Given the description of an element on the screen output the (x, y) to click on. 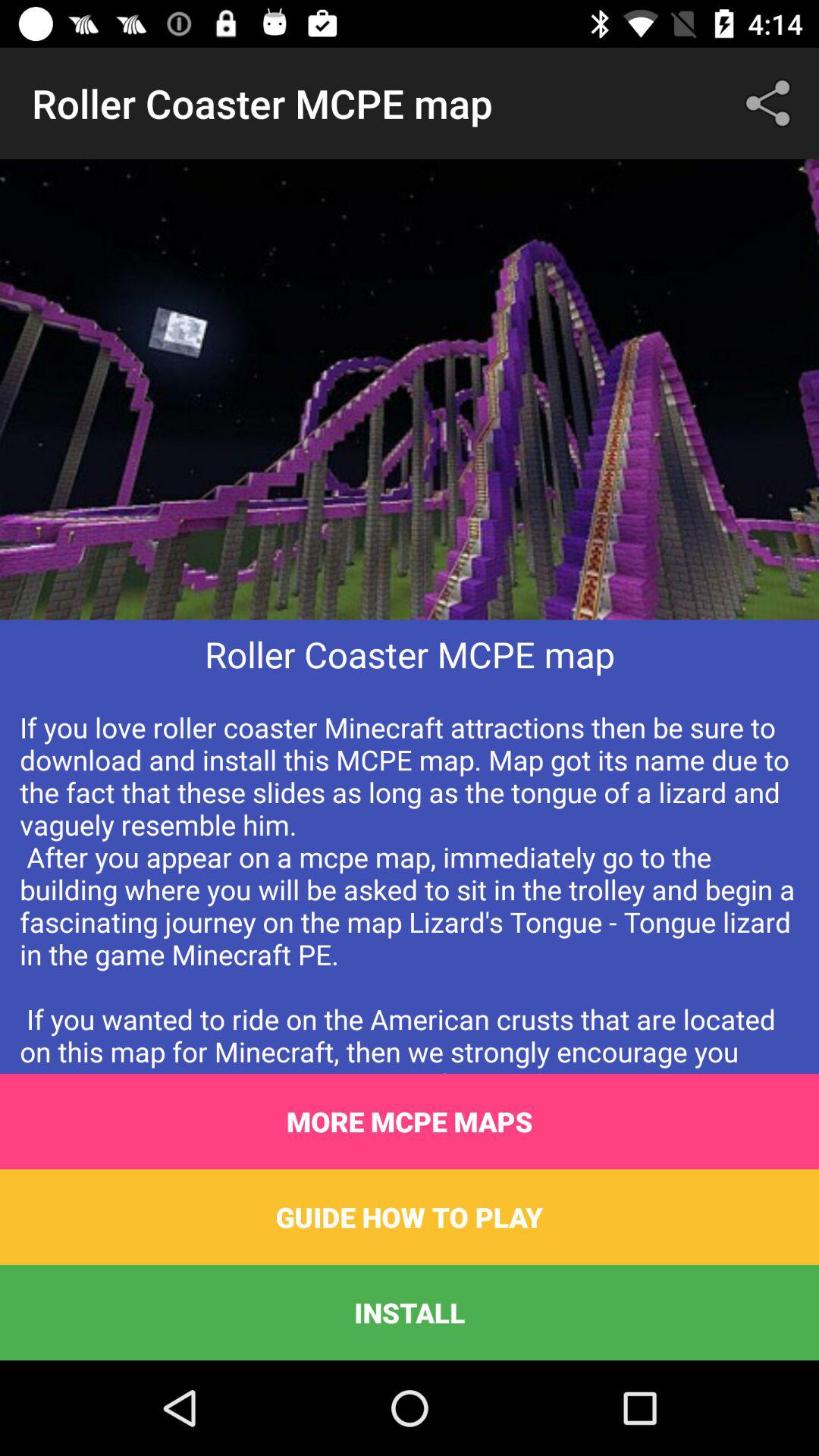
flip until more mcpe maps item (409, 1121)
